Given the description of an element on the screen output the (x, y) to click on. 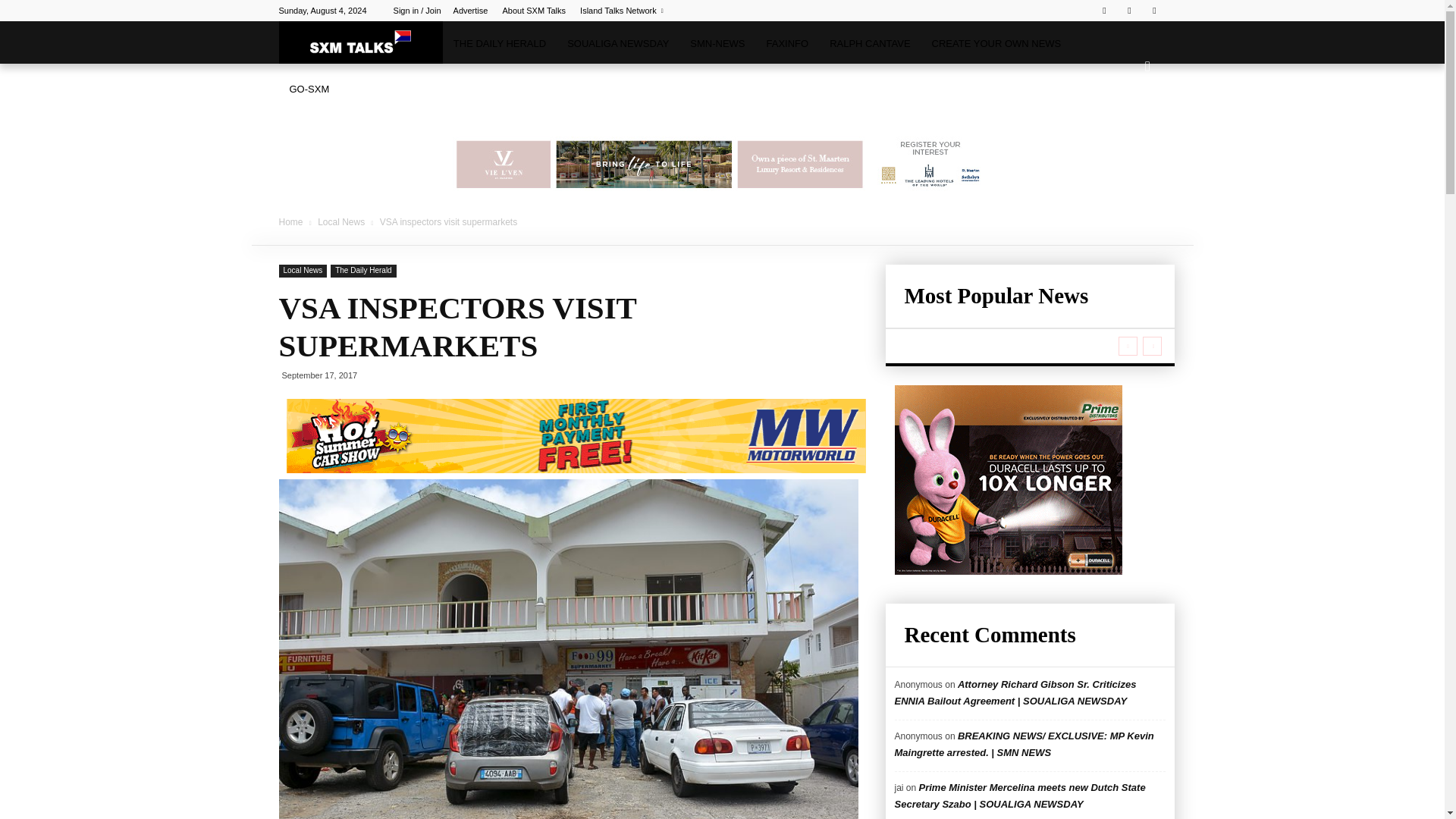
Twitter (1129, 10)
SXM Talks (360, 42)
FAXINFO (787, 43)
SMN-NEWS (717, 43)
Facebook (1104, 10)
SOUALIGA NEWSDAY (617, 43)
RALPH CANTAVE (869, 43)
THE DAILY HERALD (499, 43)
Youtube (1154, 10)
Island Talks Network (621, 10)
